Given the description of an element on the screen output the (x, y) to click on. 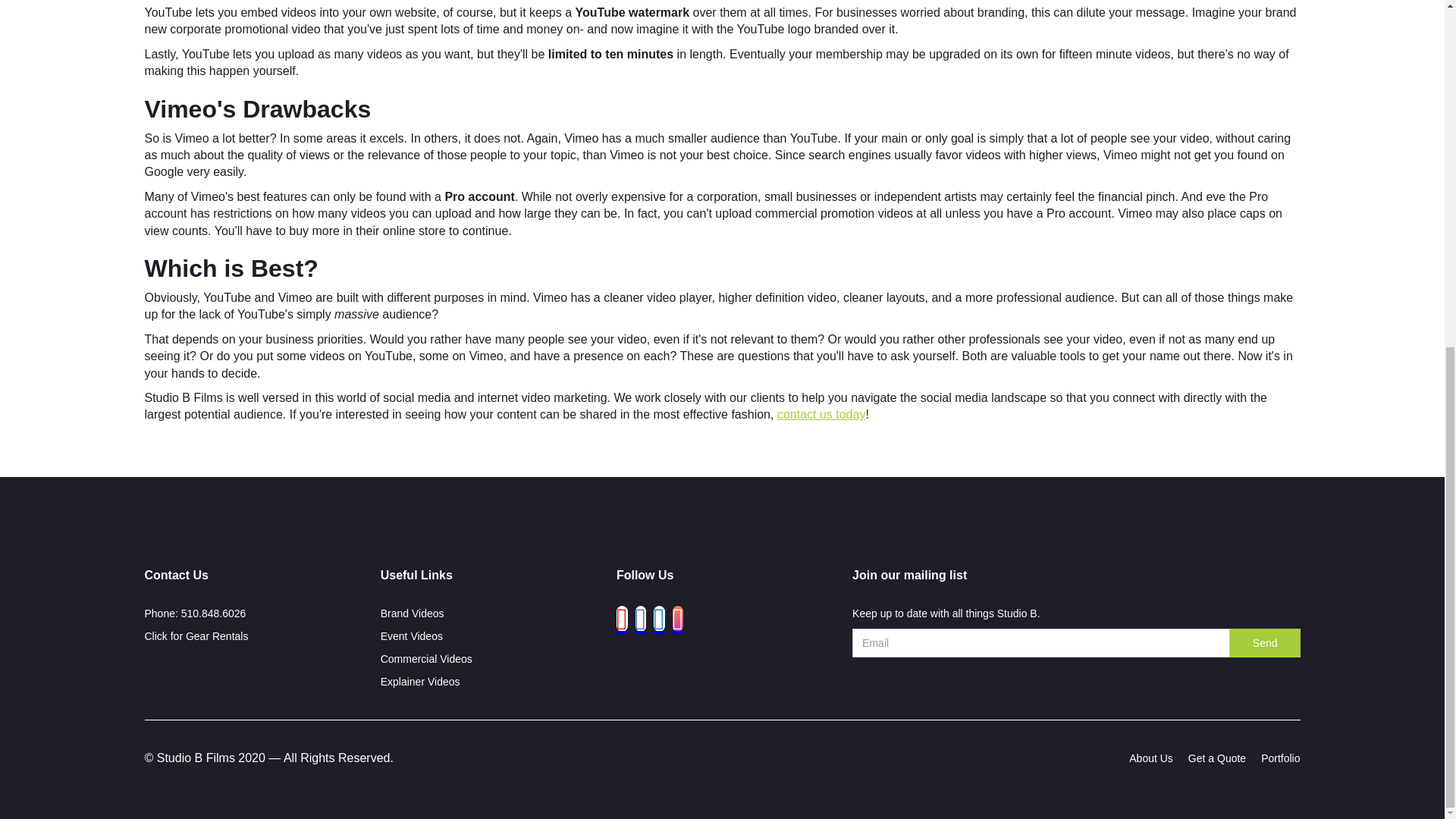
Send (1265, 642)
Brand Videos (492, 617)
Explainer Videos (492, 685)
Get a Quote (1217, 762)
Send (1265, 642)
About Us (1151, 762)
contact us today (821, 413)
Portfolio (1280, 762)
Click for Gear Rentals (195, 635)
Event Videos (492, 639)
Commercial Videos (492, 662)
